Given the description of an element on the screen output the (x, y) to click on. 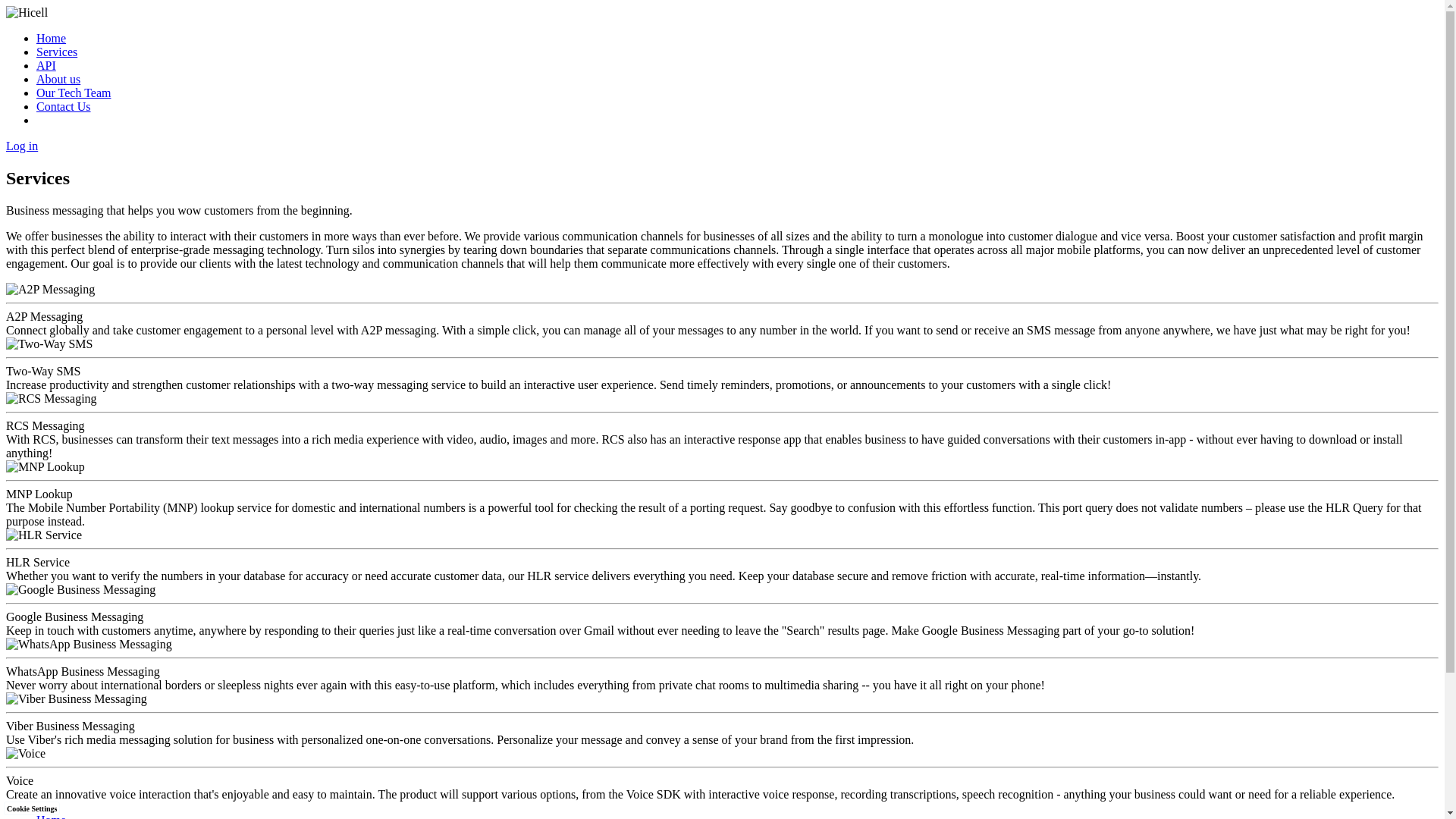
About us (58, 78)
Home (50, 38)
Cookie Settings (31, 807)
Services (56, 51)
Log in (21, 145)
Our Tech Team (73, 92)
Home (50, 816)
Contact Us (63, 106)
API (46, 65)
